Given the description of an element on the screen output the (x, y) to click on. 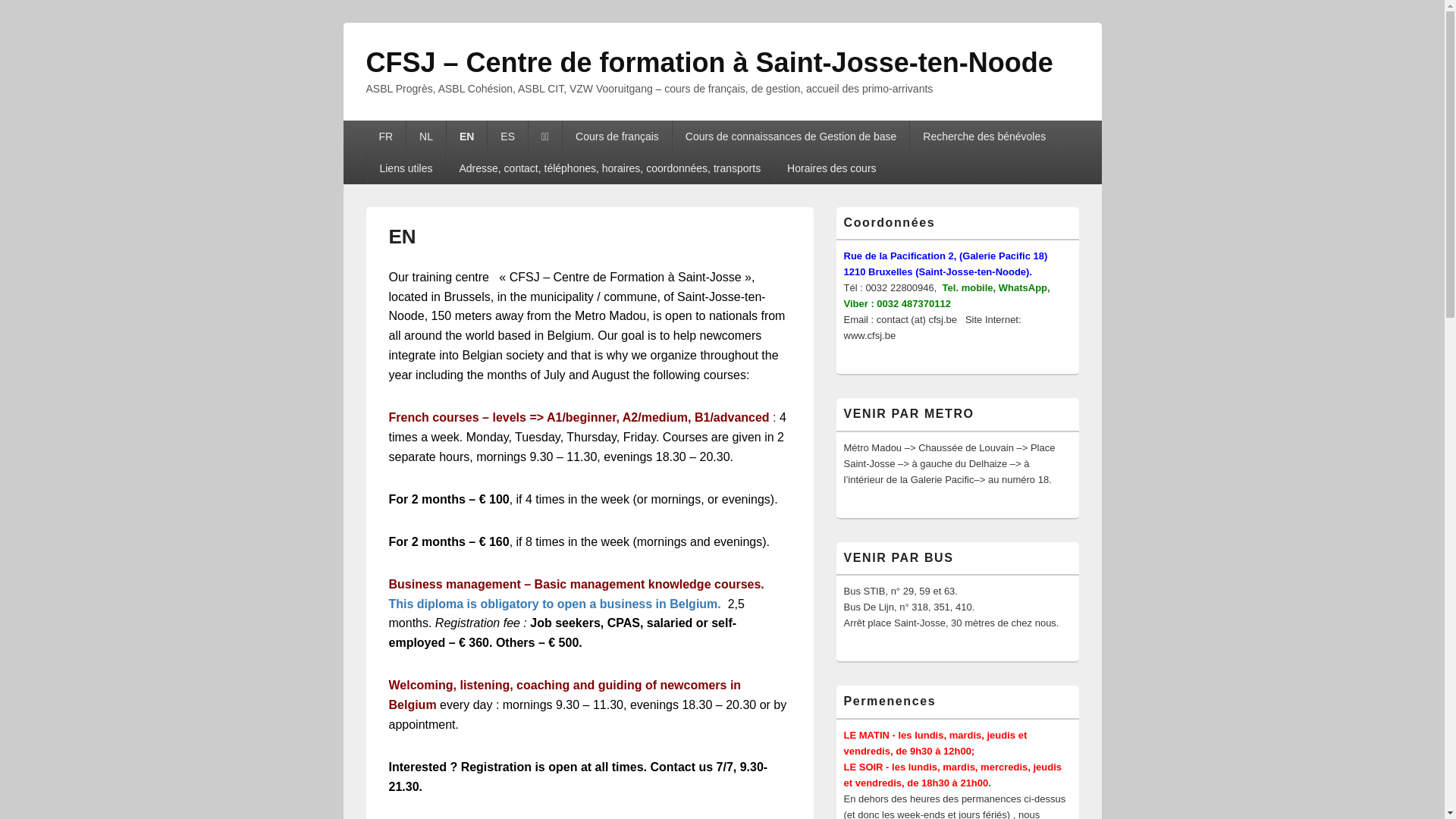
NL Element type: text (425, 136)
FR Element type: text (385, 136)
Horaires des cours Element type: text (831, 168)
EN Element type: text (466, 136)
Rue de la Pacification 2, (Galerie Pacific 18) Element type: text (945, 255)
This diploma is obligatory to open a business in Belgium. Element type: text (554, 603)
ES Element type: text (507, 136)
Cours de connaissances de Gestion de base Element type: text (791, 136)
1210 Bruxelles (Saint-Josse-ten-Noode). Element type: text (937, 271)
Liens utiles Element type: text (406, 168)
